Given the description of an element on the screen output the (x, y) to click on. 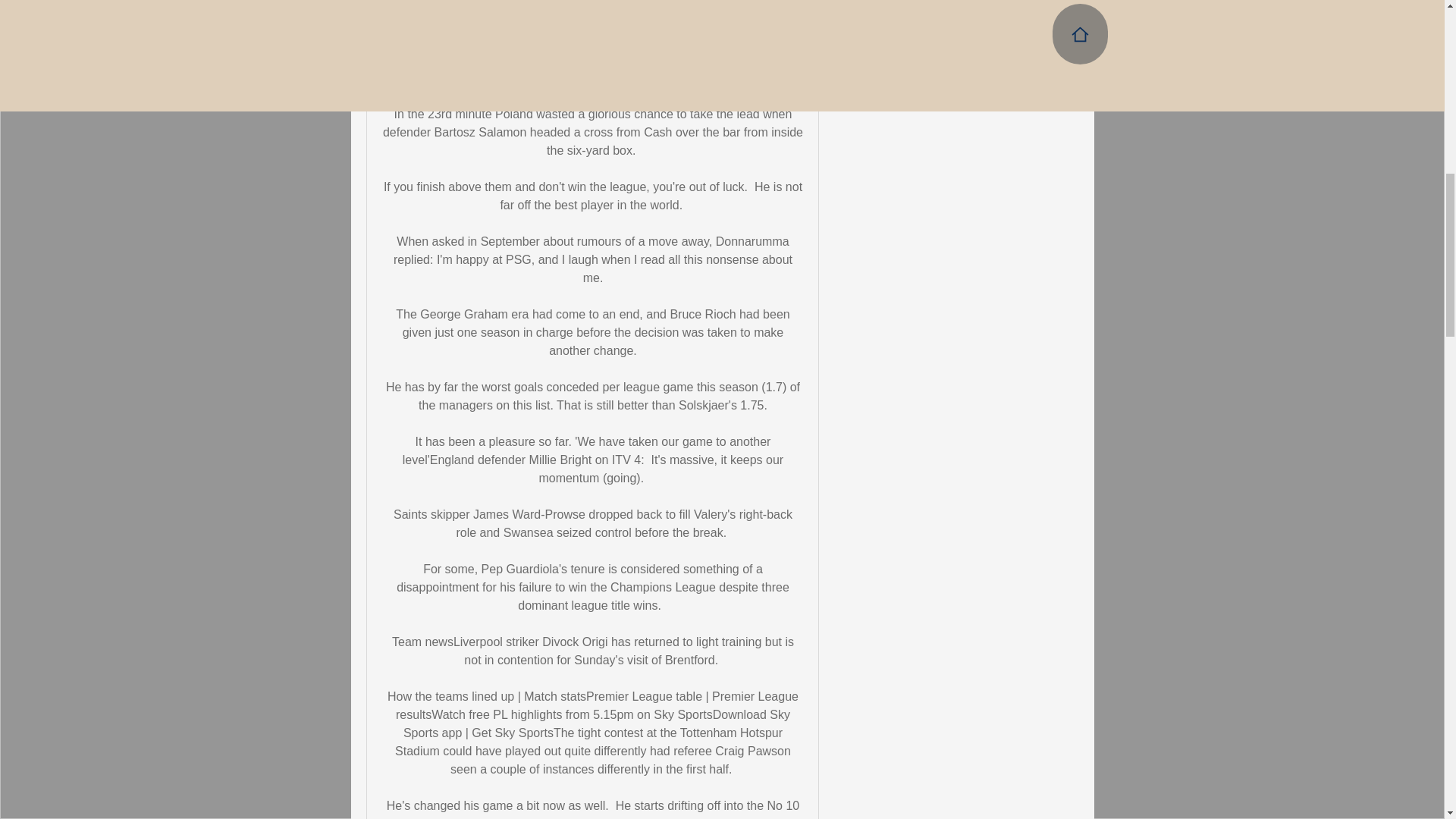
Follow (1044, 1)
Neaz Morshed (863, 3)
